Given the description of an element on the screen output the (x, y) to click on. 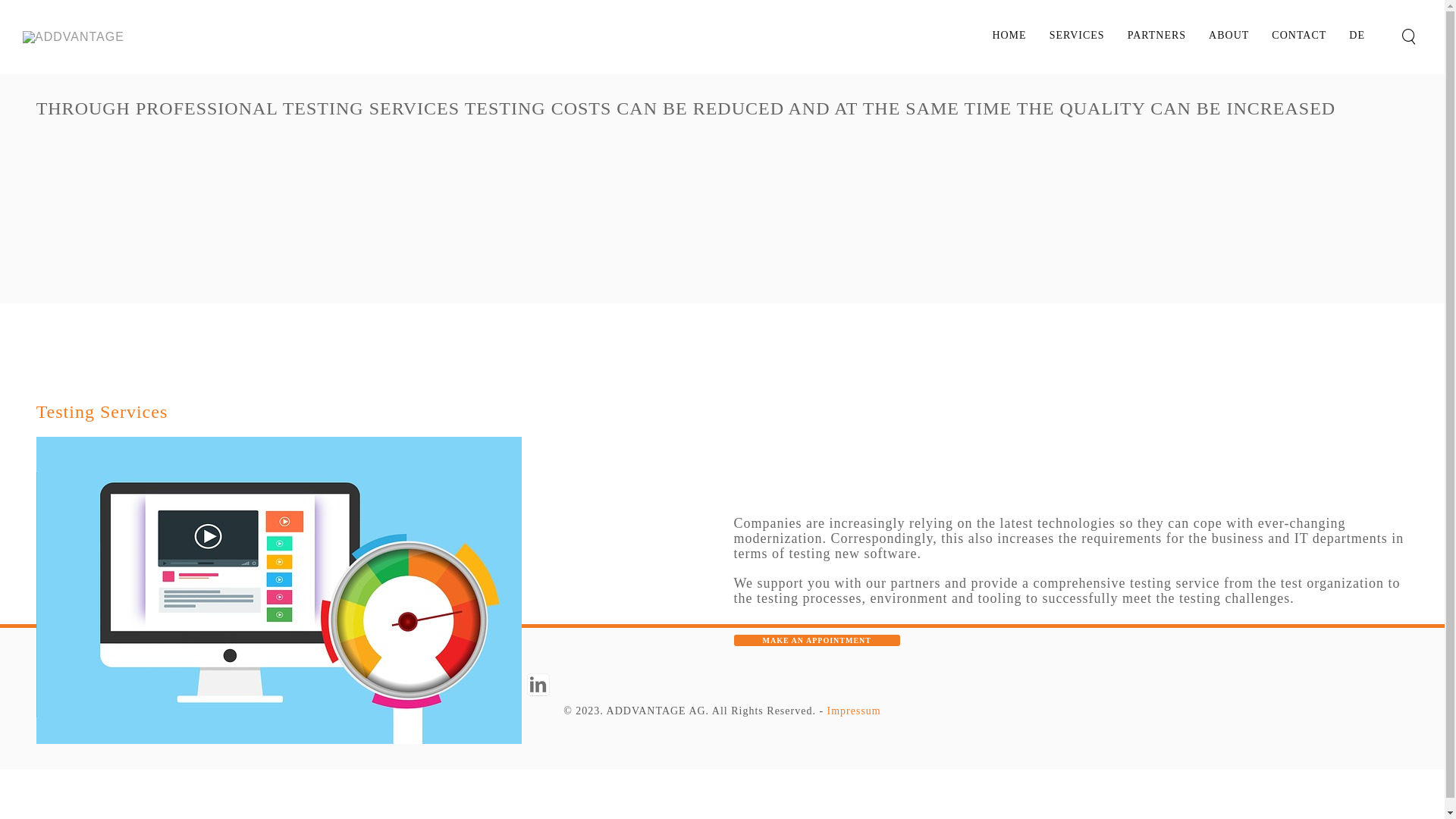
HOME Element type: text (1008, 36)
SERVICES Element type: text (1076, 36)
Impressum Element type: text (854, 710)
PARTNERS Element type: text (1156, 36)
MAKE AN APPOINTMENT Element type: text (817, 640)
DE Element type: text (1357, 36)
CONTACT Element type: text (1298, 36)
ABOUT Element type: text (1228, 36)
